Given the description of an element on the screen output the (x, y) to click on. 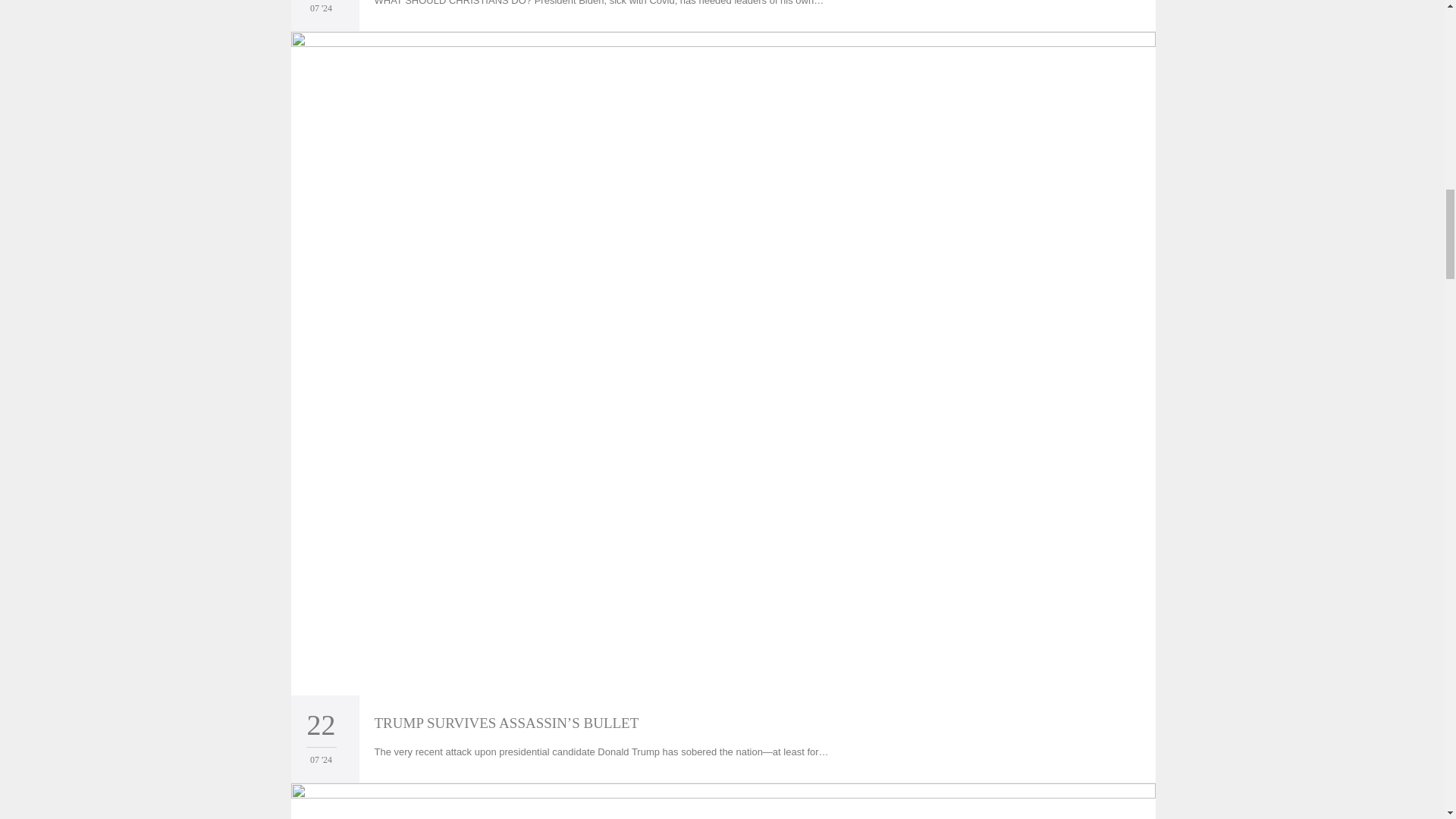
PRESIDENT STUMBLES, DETERMINES TO CARRY ON (723, 800)
